Given the description of an element on the screen output the (x, y) to click on. 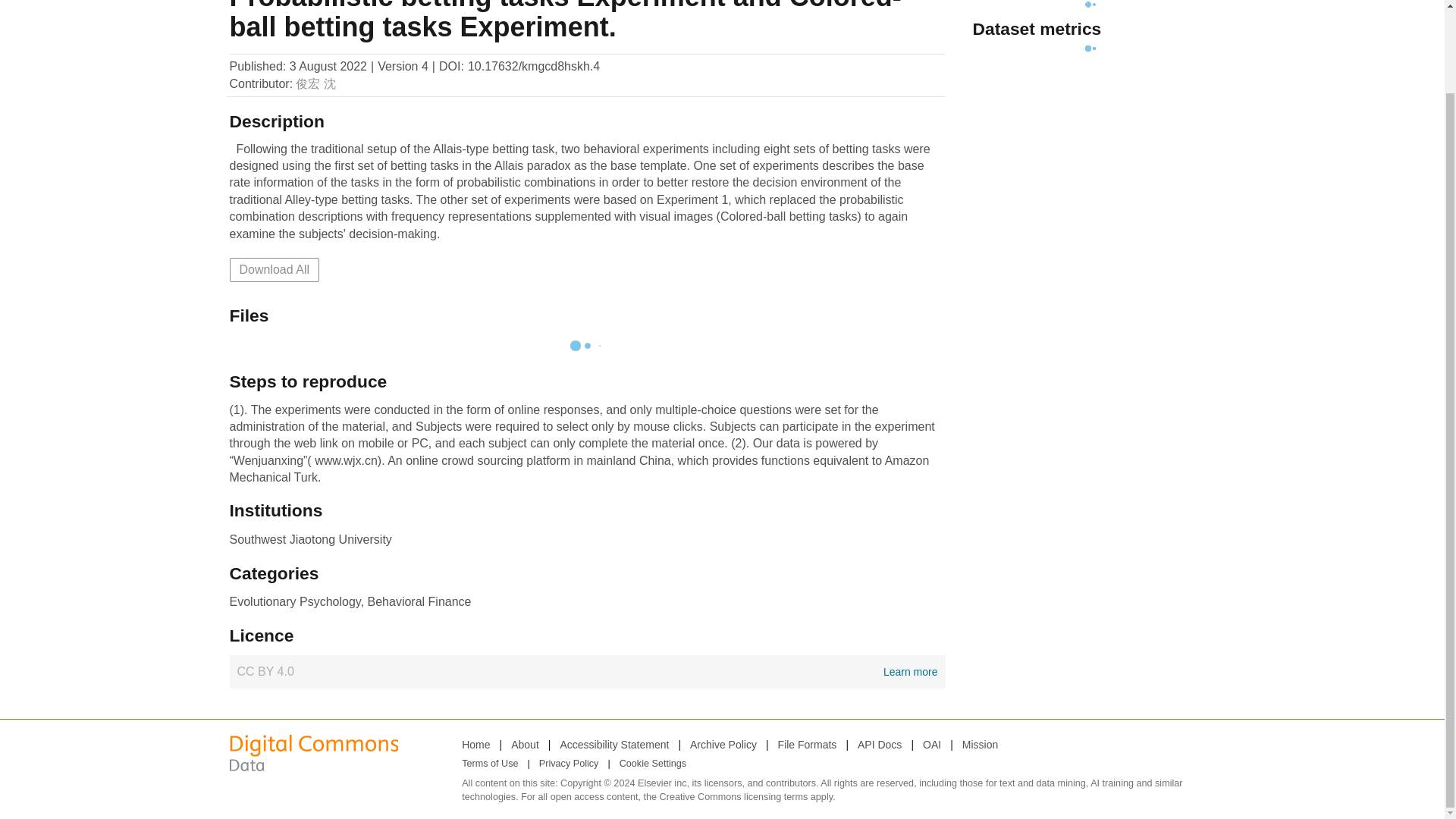
About (524, 744)
OAI (931, 744)
Archive Policy (723, 744)
Accessibility Statement (613, 744)
API Docs (879, 744)
Cookie Settings (652, 763)
Terms of Use (489, 763)
Privacy Policy (568, 763)
File Formats (807, 744)
